Given the description of an element on the screen output the (x, y) to click on. 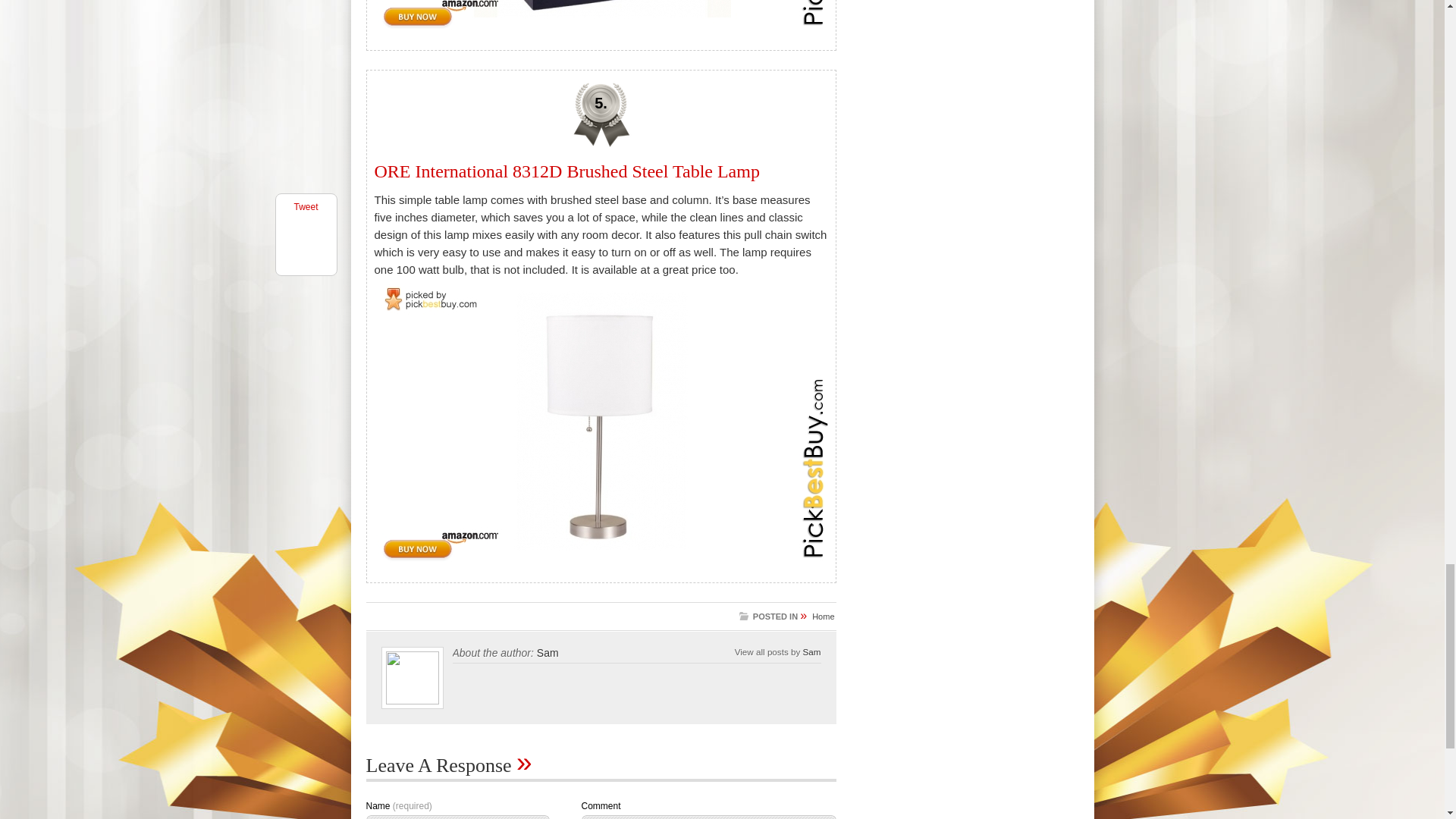
Posts by Sam (812, 651)
Home (823, 615)
ORE International 8328 Tropical Style Table Lamp (601, 15)
ORE International 8312D Brushed Steel Table Lamp (567, 170)
Sam (548, 653)
Sam (812, 651)
ORE International 8312D Brushed Steel Table Lamp  (601, 420)
